Given the description of an element on the screen output the (x, y) to click on. 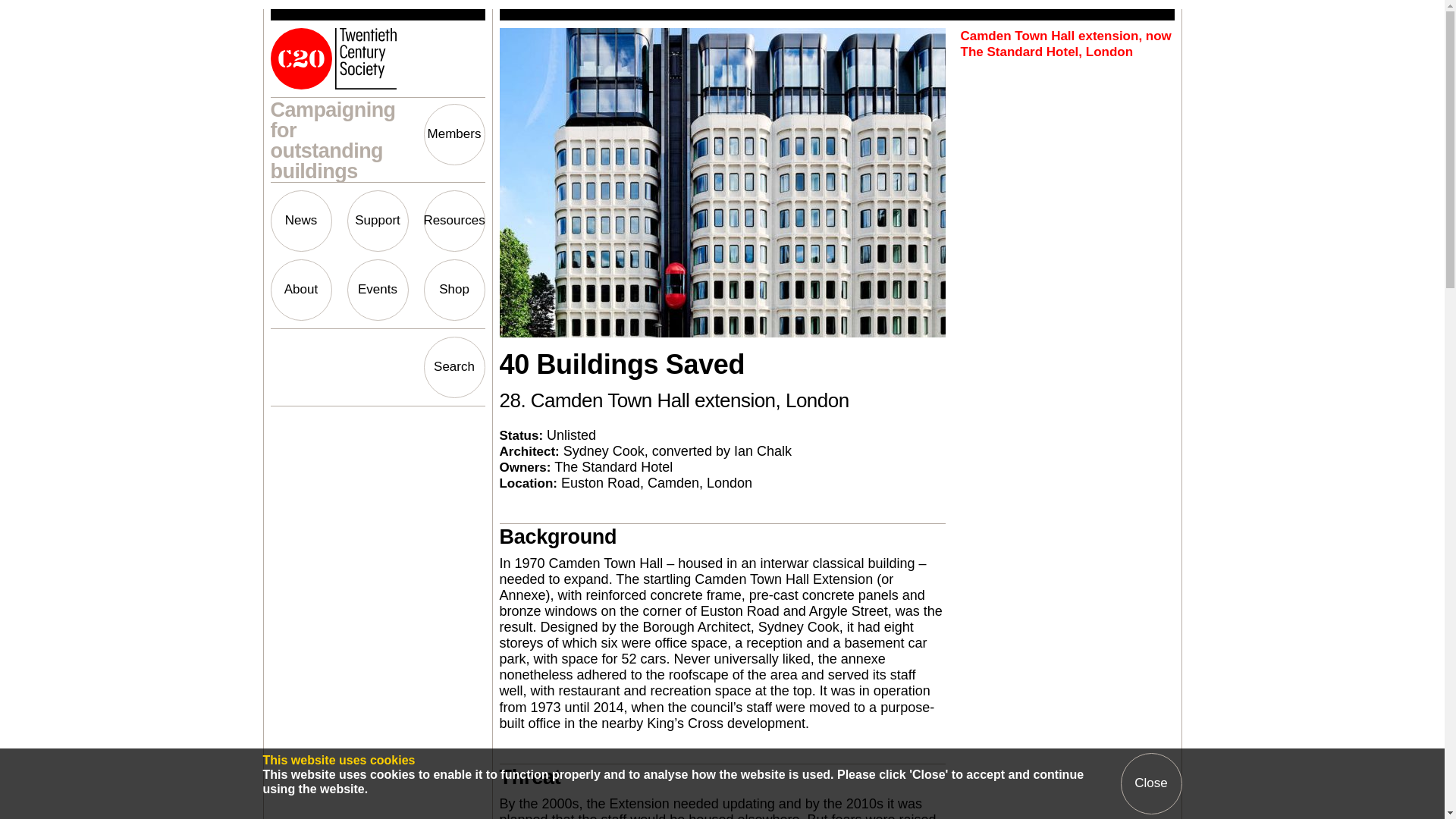
Shop (453, 290)
News (300, 220)
Support (378, 220)
Members (453, 134)
Events (378, 290)
About (300, 290)
Resources (453, 220)
